Given the description of an element on the screen output the (x, y) to click on. 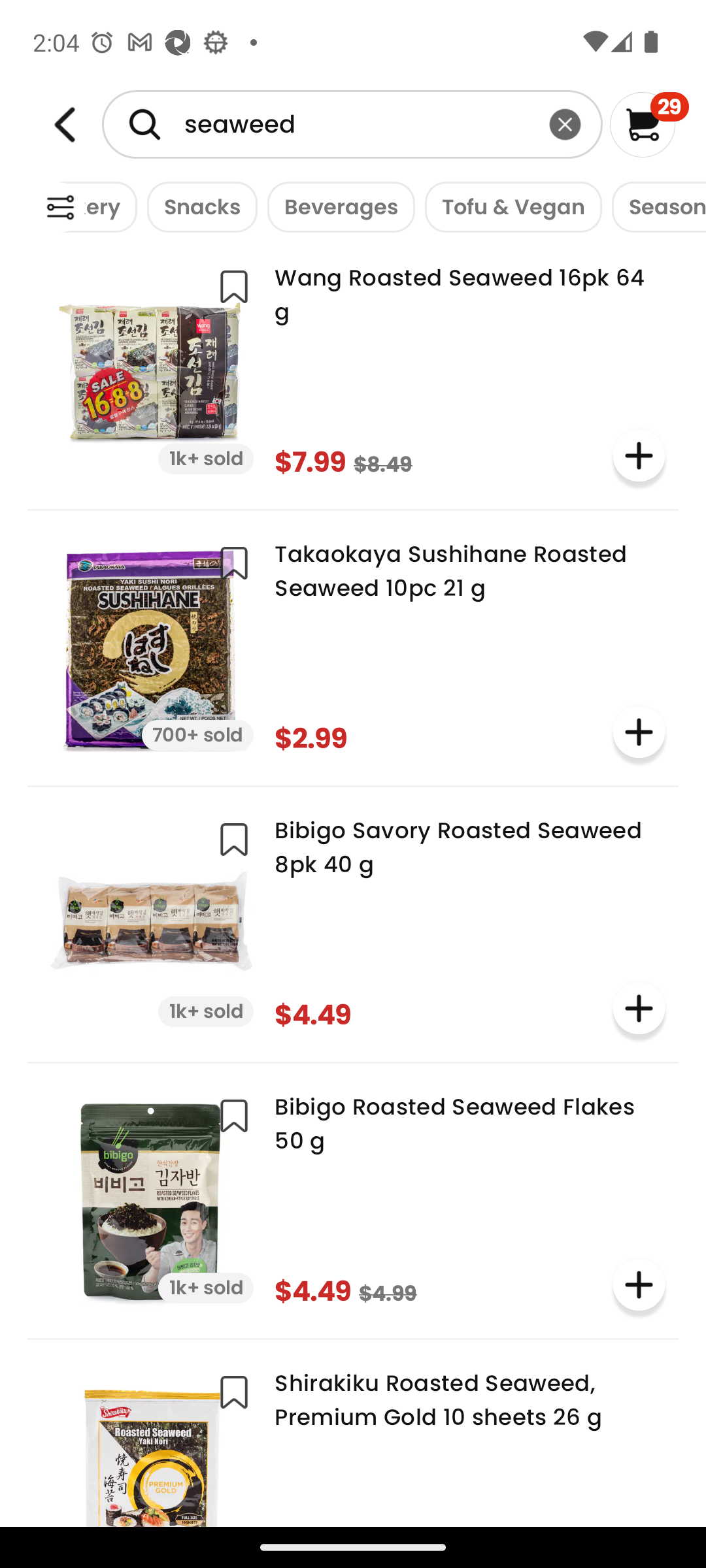
seaweed (351, 124)
29 (649, 124)
Weee! (60, 207)
Bakery (98, 206)
Snacks (196, 206)
Beverages (336, 206)
Tofu & Vegan (508, 206)
Seasoning (654, 206)
